Given the description of an element on the screen output the (x, y) to click on. 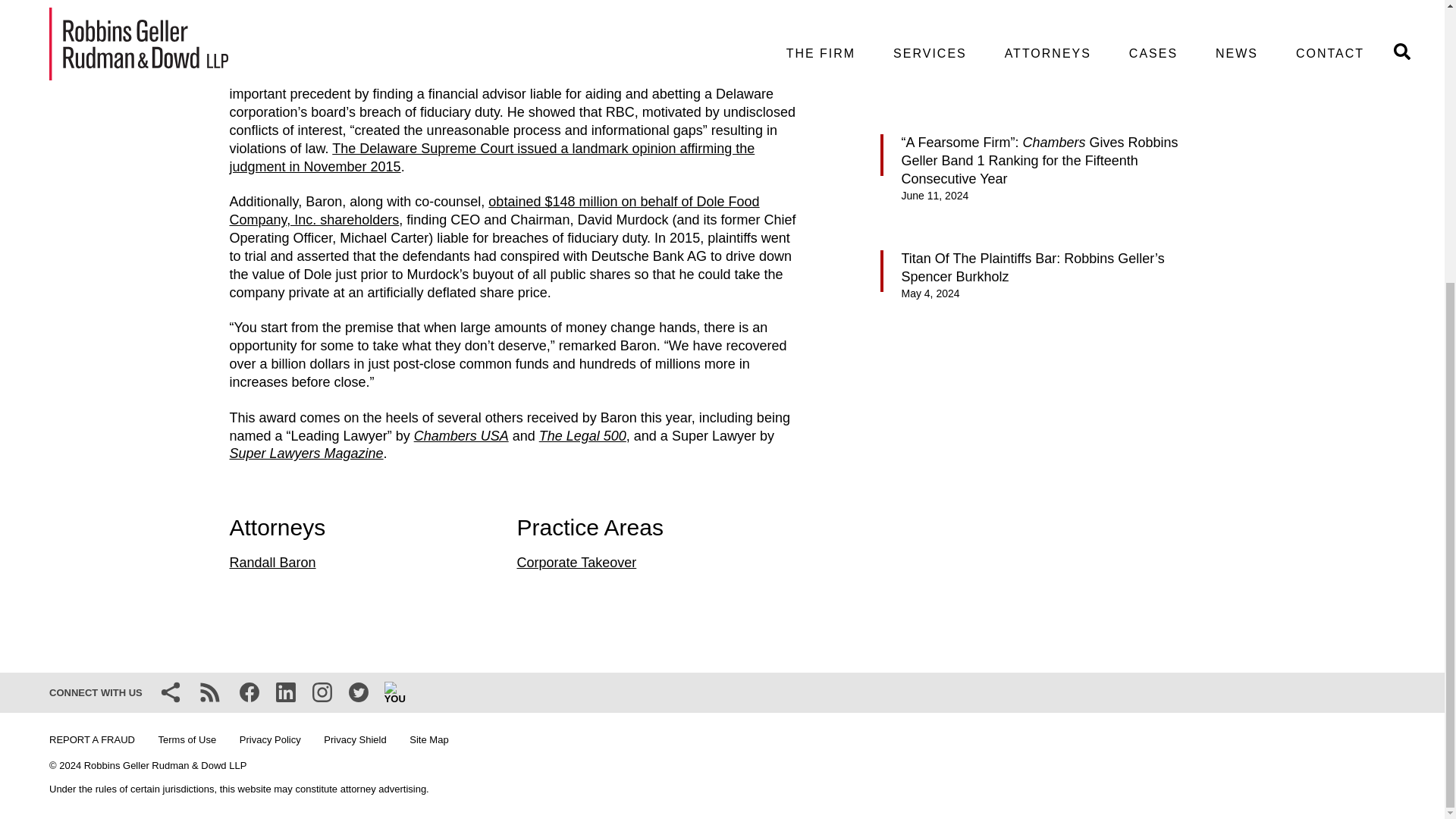
RSS (210, 691)
LinkedIn (286, 691)
YouTube (395, 692)
Instagram (322, 691)
Twitter (358, 691)
Share (170, 691)
Facebook (249, 691)
